Given the description of an element on the screen output the (x, y) to click on. 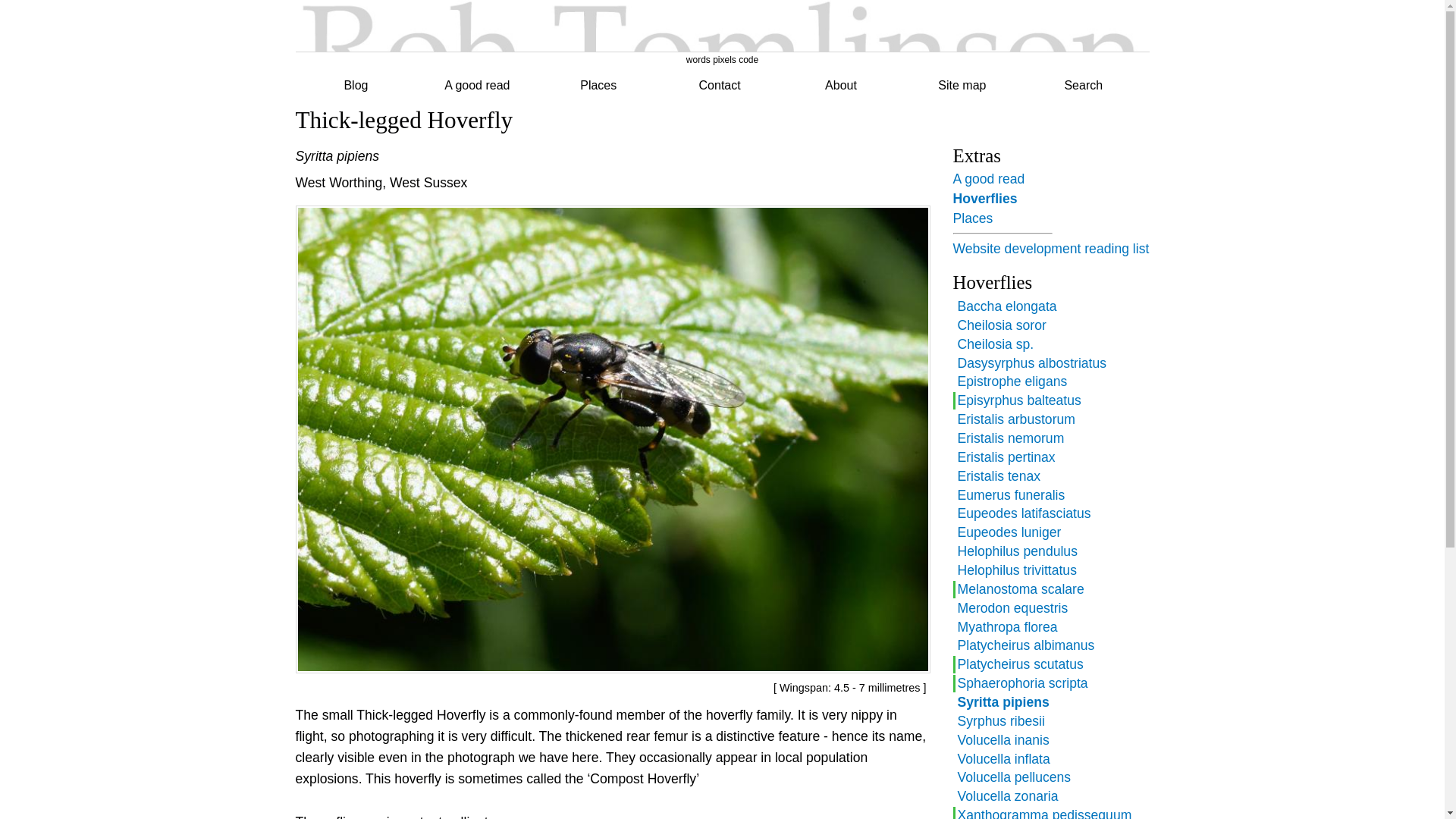
Eristalis arbustorum (1015, 418)
Website development reading list (1050, 248)
Cheilosia soror (1000, 324)
Helophilus pendulus (1016, 550)
Merodon equestris (1011, 607)
About (840, 85)
Epistrophe eligans (1011, 381)
Episyrphus balteatus (1018, 400)
Places (972, 218)
Eristalis pertinax (1005, 457)
